Given the description of an element on the screen output the (x, y) to click on. 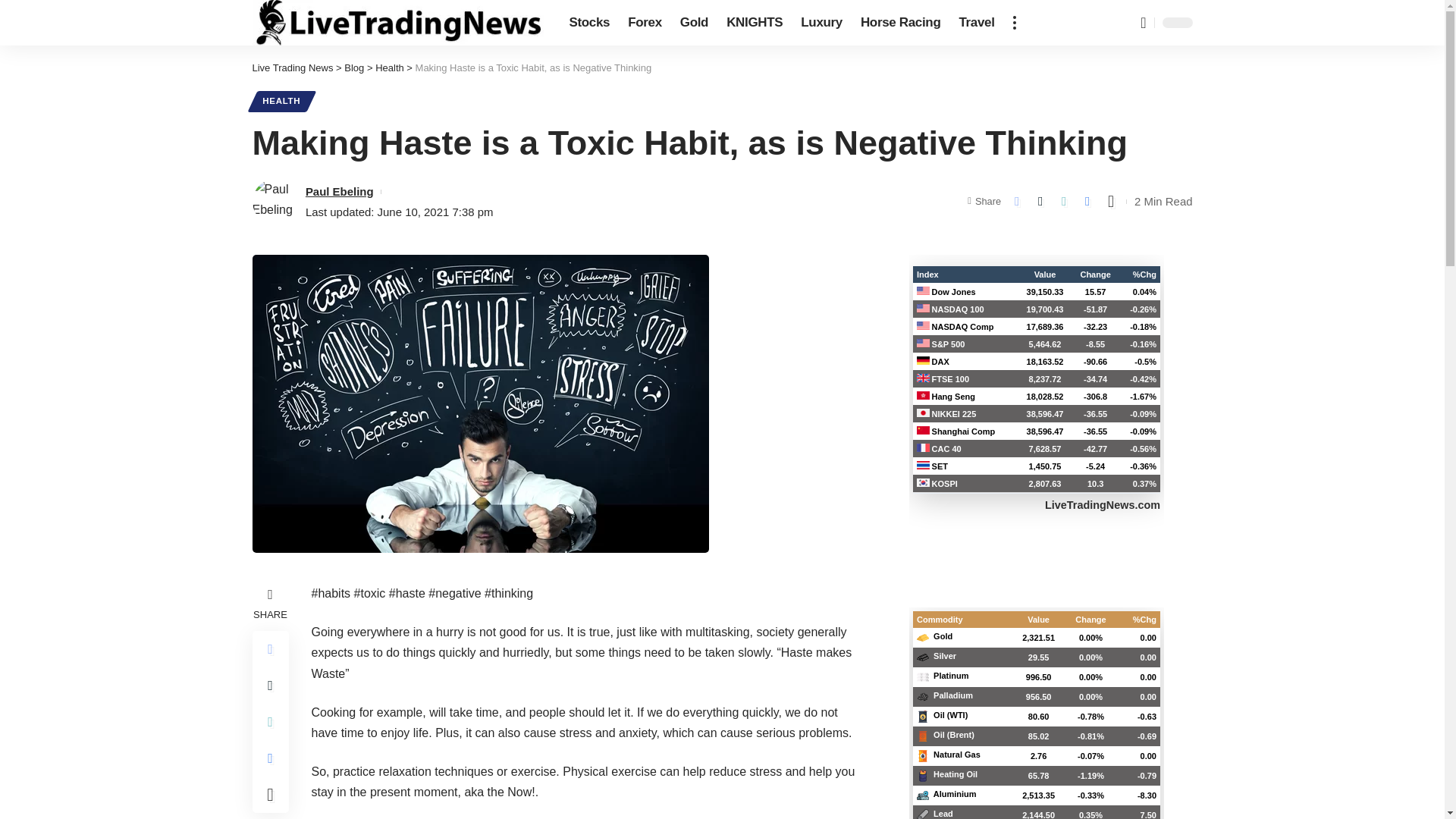
Go to the Health Category archives. (389, 67)
Forex (644, 22)
Go to Blog. (353, 67)
Live Trading News (397, 22)
Stocks (588, 22)
KNIGHTS (754, 22)
Horse Racing (900, 22)
Luxury (821, 22)
Commodities Widgets (1035, 713)
Travel (976, 22)
